Given the description of an element on the screen output the (x, y) to click on. 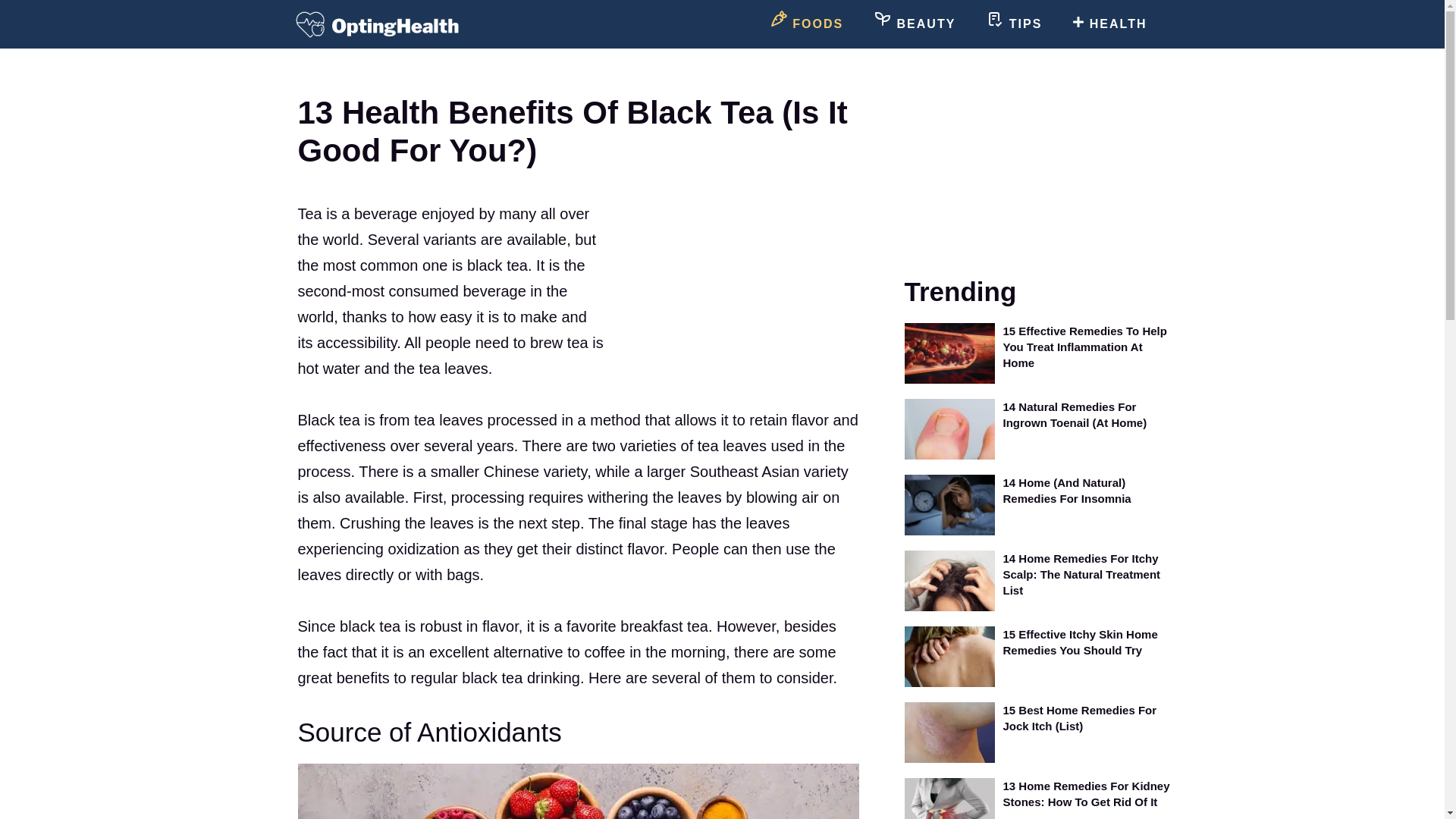
TIPS (1014, 23)
15 Effective Remedies To Help You Treat Inflammation At Home (1084, 346)
13 Home Remedies For Kidney Stones: How To Get Rid Of It (1086, 793)
Advertisement (1040, 169)
HEALTH (1109, 23)
FOODS (806, 23)
Advertisement (731, 282)
BEAUTY (915, 23)
15 Effective Itchy Skin Home Remedies You Should Try (1080, 642)
14 Home Remedies For Itchy Scalp: The Natural Treatment List (1081, 574)
